Given the description of an element on the screen output the (x, y) to click on. 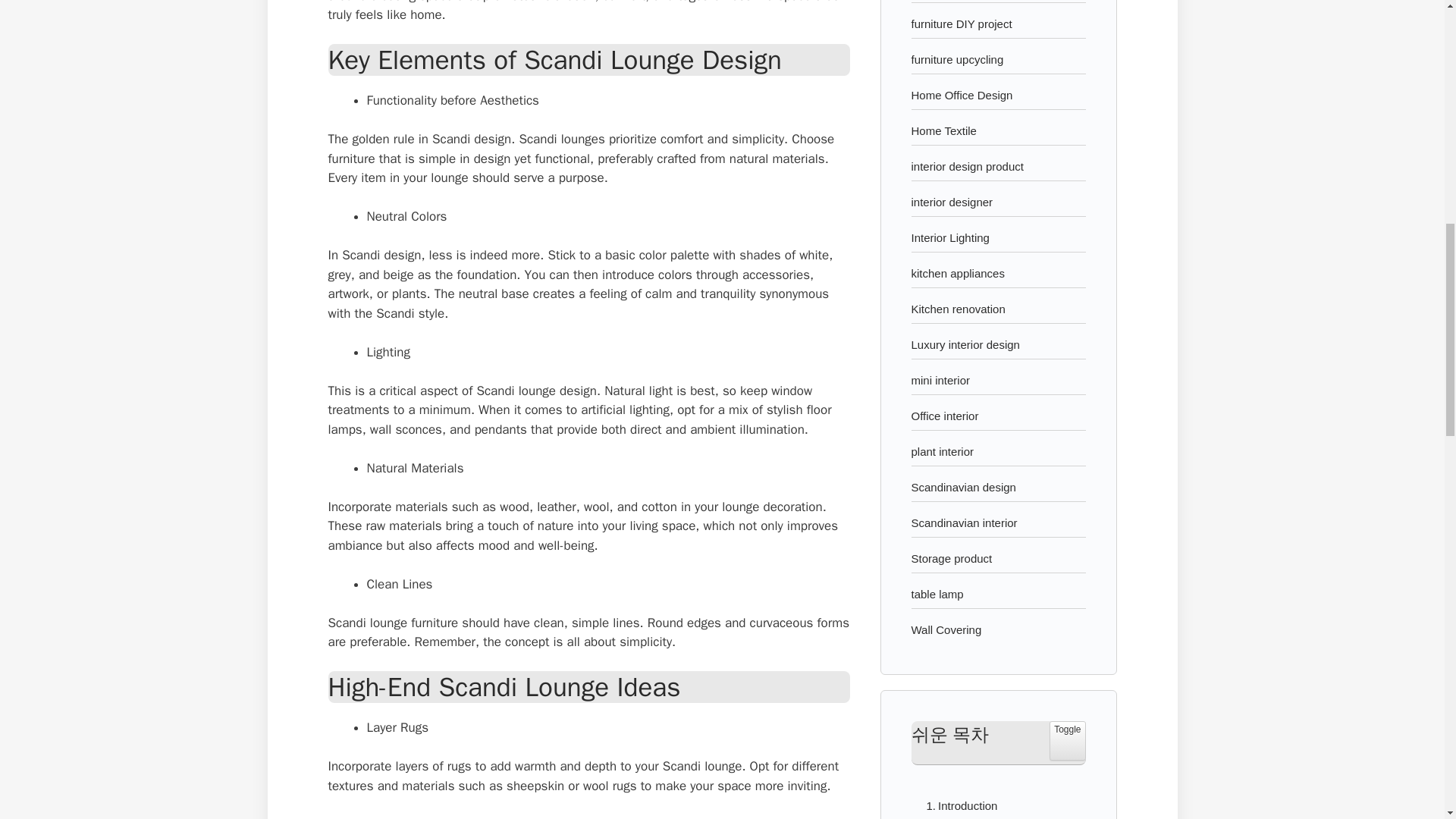
Introduction (957, 805)
Scroll back to top (1406, 720)
